Given the description of an element on the screen output the (x, y) to click on. 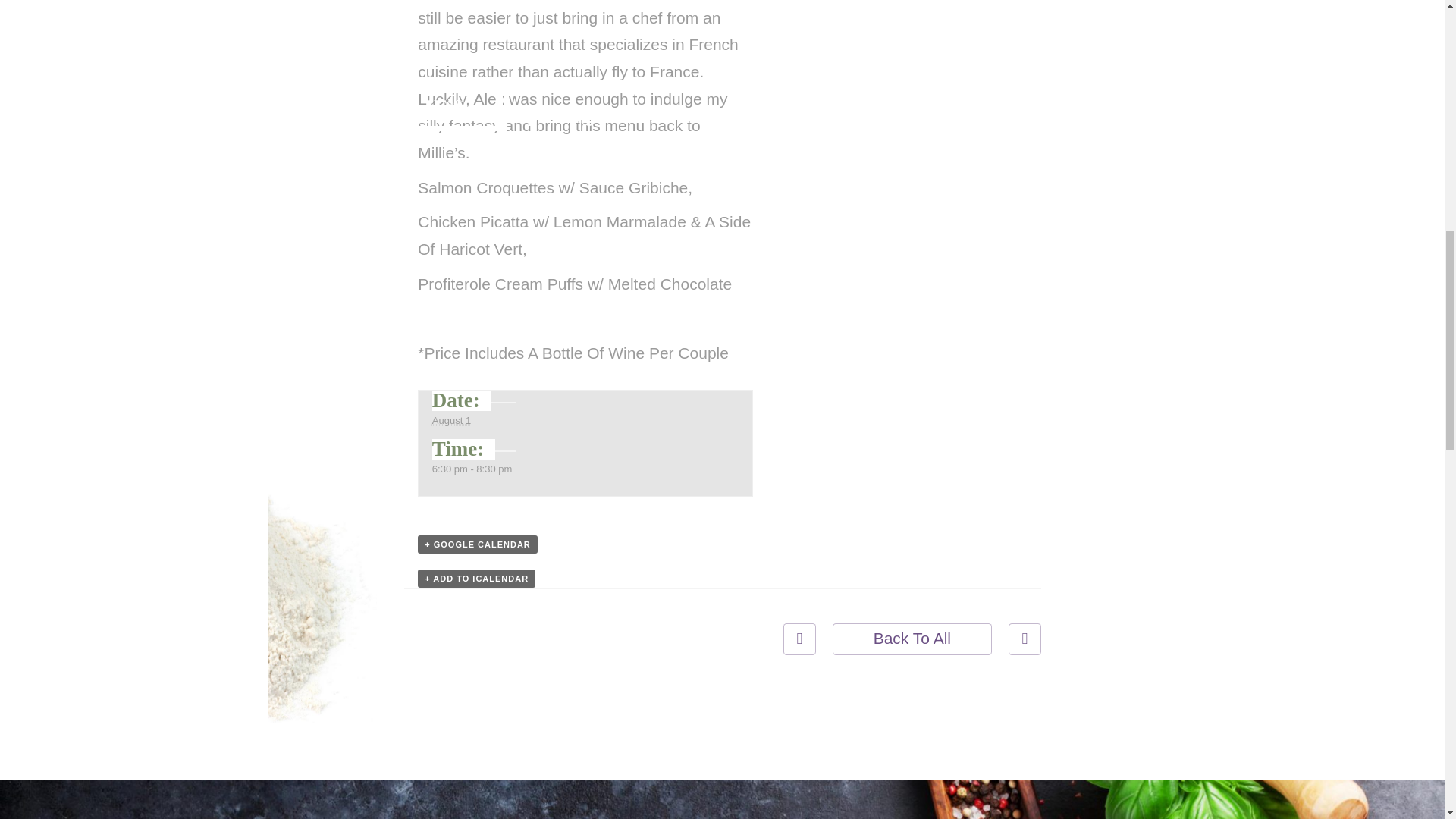
Download .ics file (476, 578)
Back To All (911, 639)
2024-08-01 (474, 468)
2024-08-01 (451, 419)
Add to Google Calendar (477, 544)
